Given the description of an element on the screen output the (x, y) to click on. 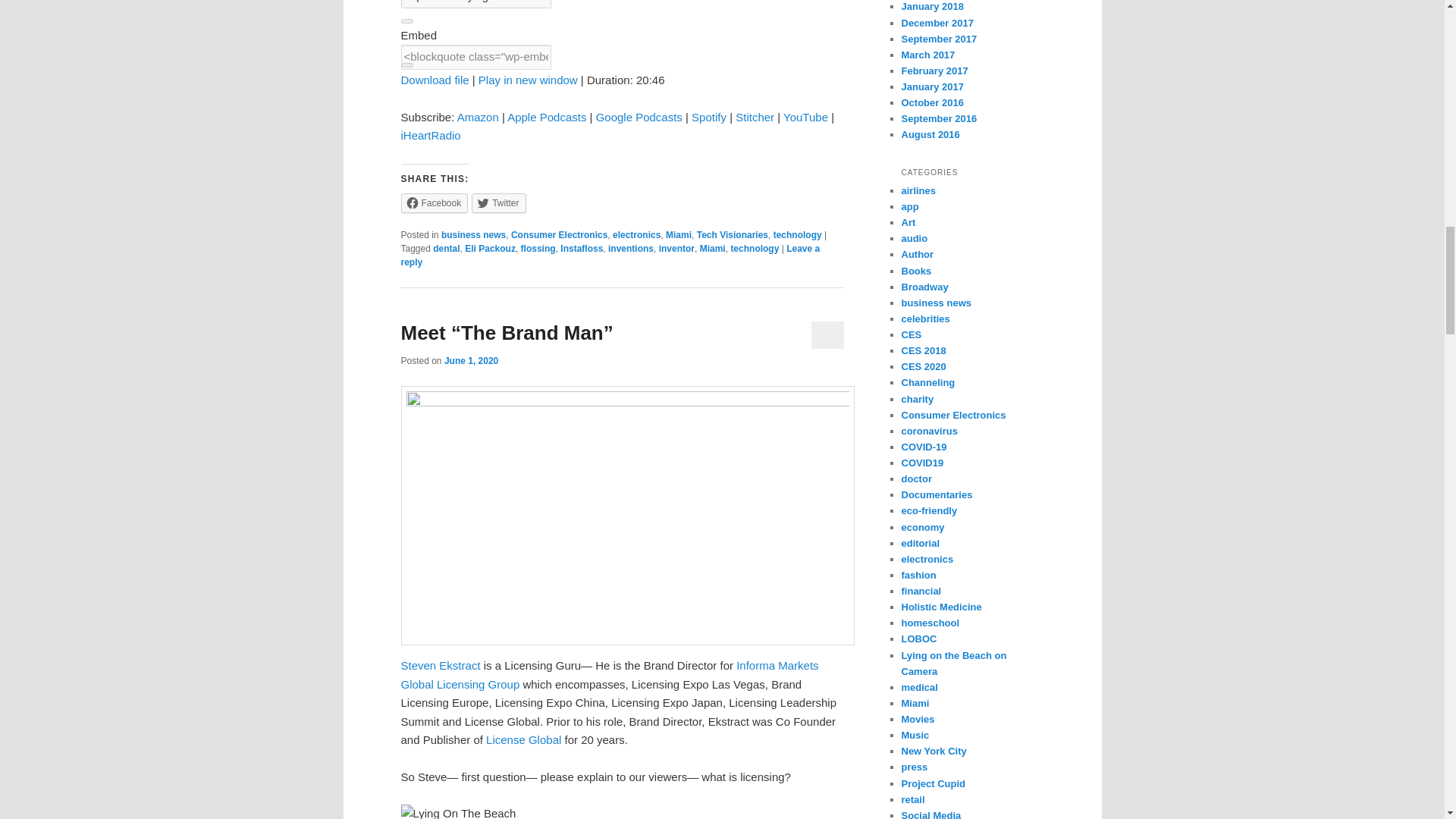
Download file (434, 79)
Play in new window (528, 79)
Google Podcasts (638, 116)
Amazon (478, 116)
Spotify (708, 116)
Stitcher (754, 116)
Apple Podcasts (546, 116)
